Given the description of an element on the screen output the (x, y) to click on. 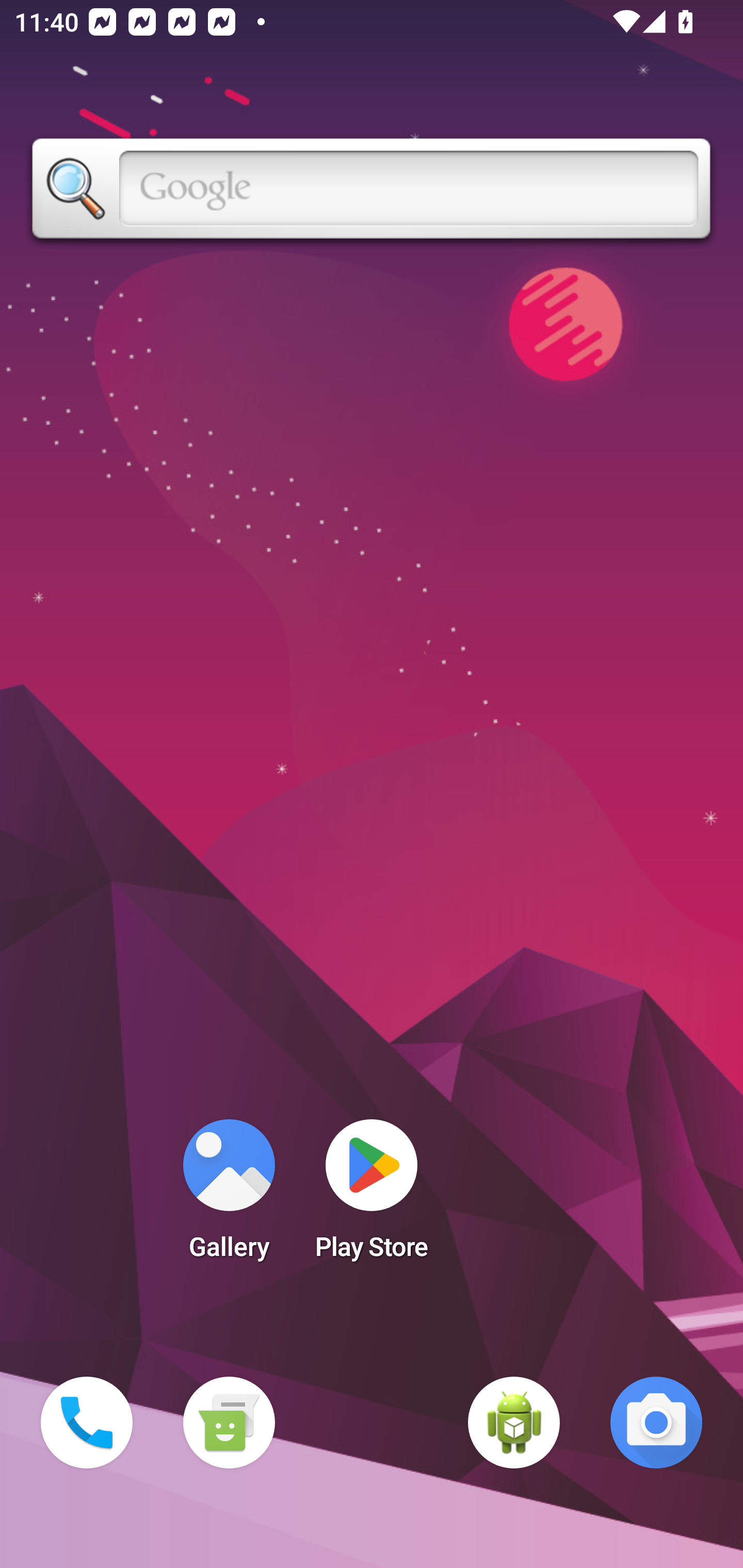
Gallery (228, 1195)
Play Store (371, 1195)
Phone (86, 1422)
Messaging (228, 1422)
WebView Browser Tester (513, 1422)
Camera (656, 1422)
